Given the description of an element on the screen output the (x, y) to click on. 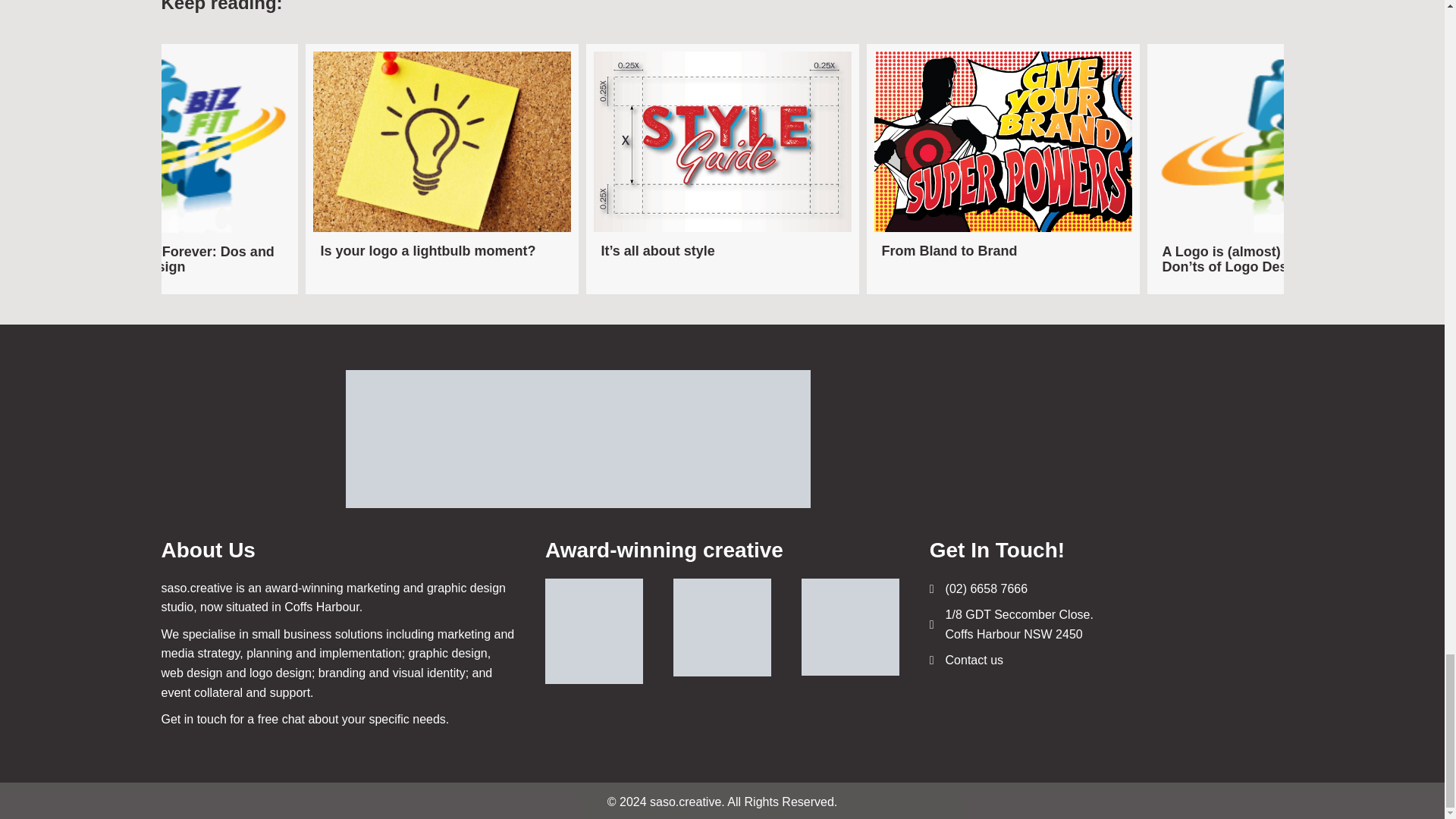
Jigsaw-04 (160, 141)
Contact us (973, 660)
